Given the description of an element on the screen output the (x, y) to click on. 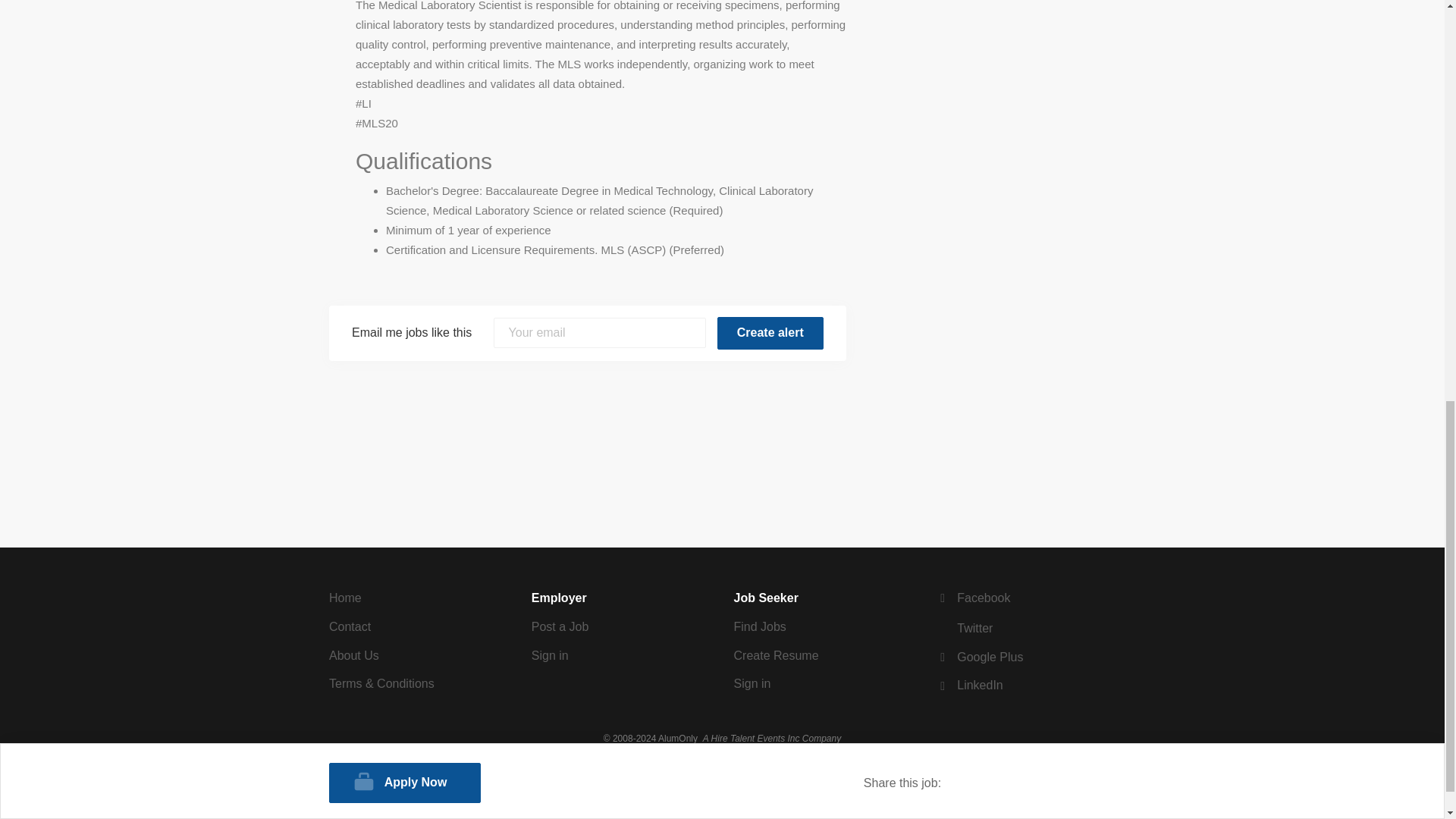
Sign in (550, 655)
Create alert (770, 332)
Google Plus (979, 656)
Create alert (770, 332)
Create Resume (775, 655)
Twitter (964, 627)
Facebook (973, 597)
Find Jobs (759, 626)
Sign in (752, 683)
Post a Job (560, 626)
Home (345, 597)
Contact (350, 626)
About Us (353, 655)
